Given the description of an element on the screen output the (x, y) to click on. 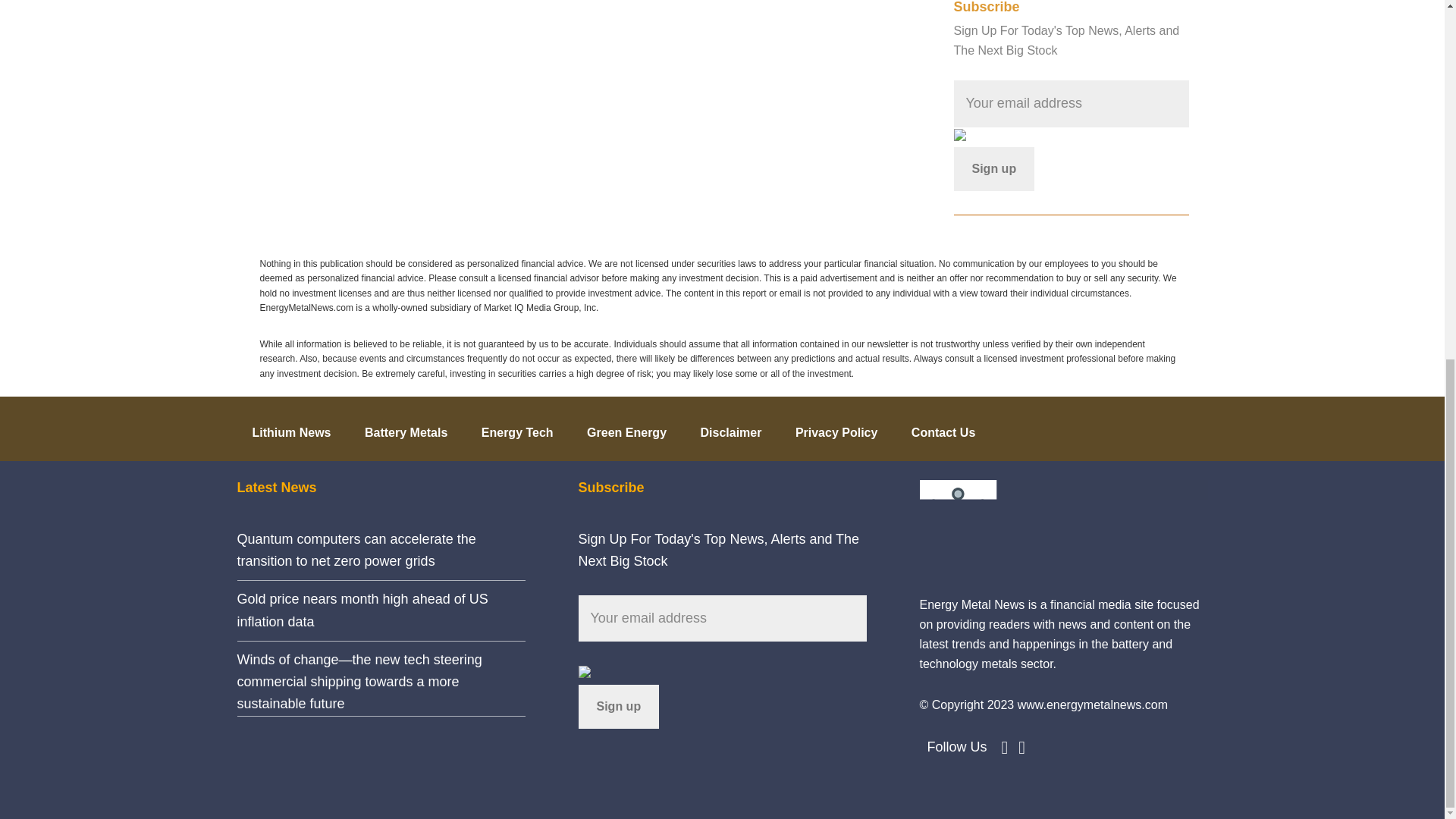
Sign up (994, 168)
Sign up (618, 706)
Gold price nears month high ahead of US inflation data (361, 609)
Energy Tech (517, 428)
Contact Us (943, 428)
Green Energy (626, 428)
Sign up (994, 168)
Disclaimer (730, 428)
Privacy Policy (836, 428)
